Given the description of an element on the screen output the (x, y) to click on. 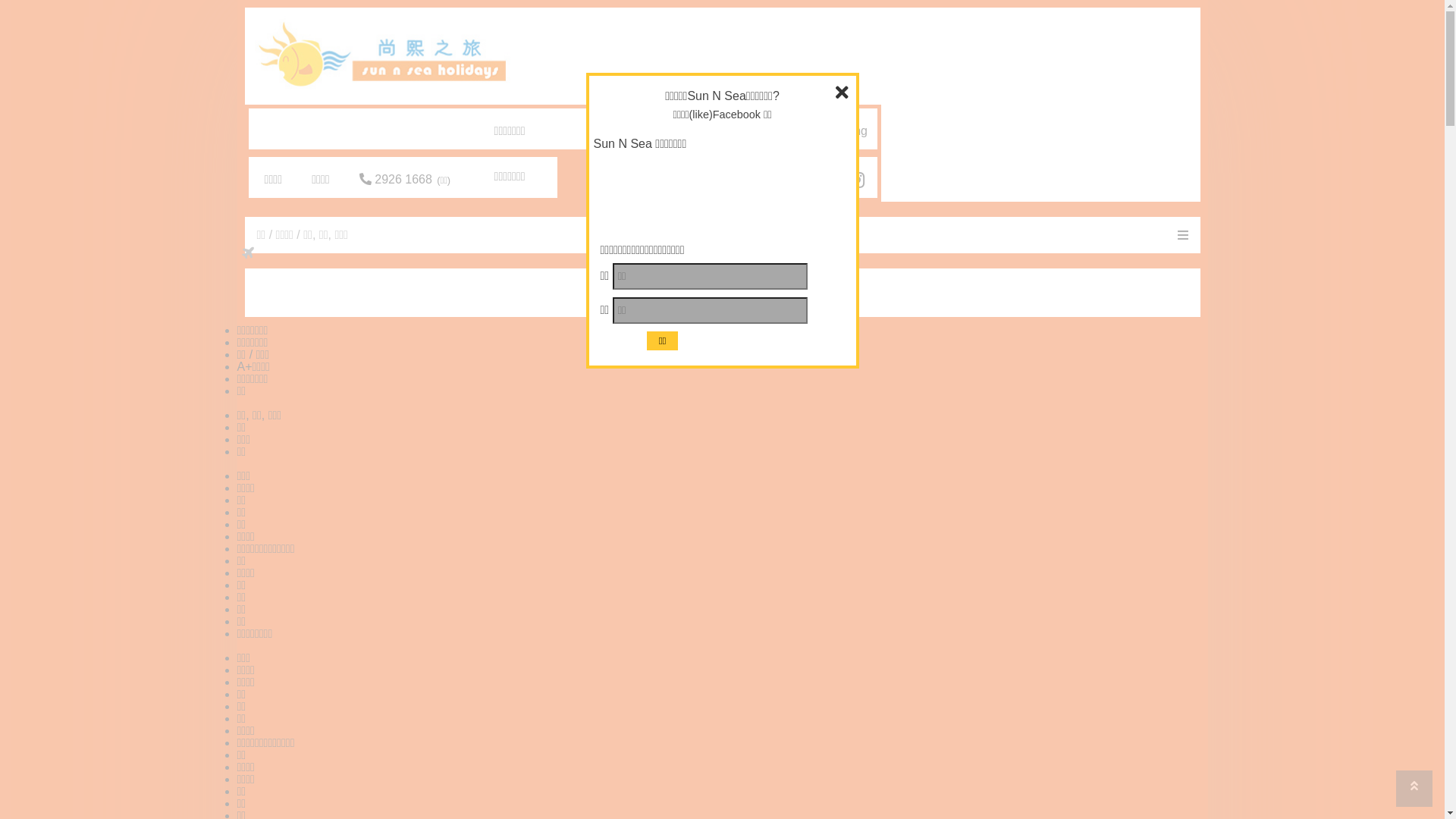
Eng Element type: text (856, 130)
